Given the description of an element on the screen output the (x, y) to click on. 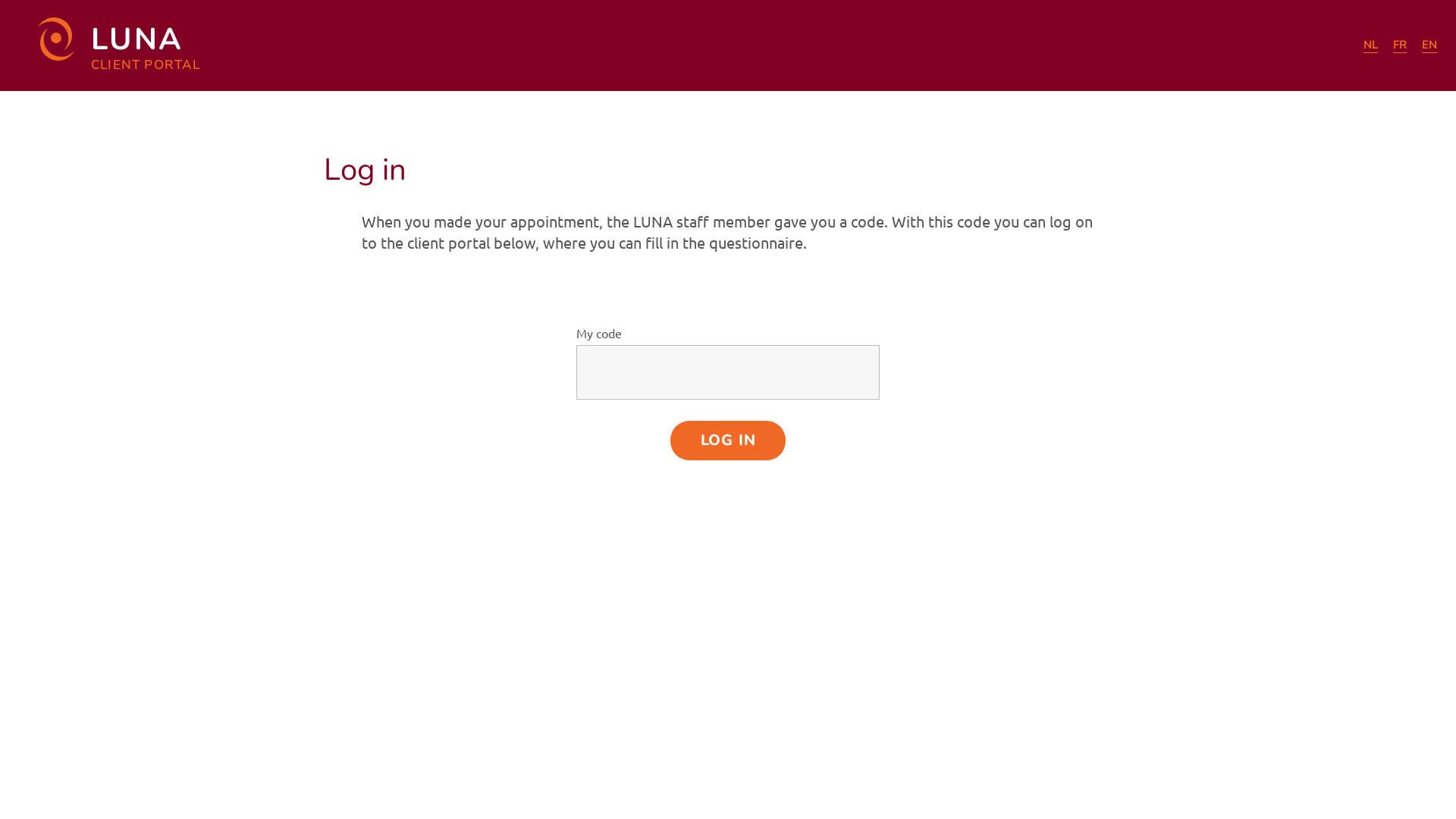
LOG IN Element type: text (728, 440)
FR Element type: text (1399, 45)
EN Element type: text (1429, 45)
NL Element type: text (1370, 45)
